Given the description of an element on the screen output the (x, y) to click on. 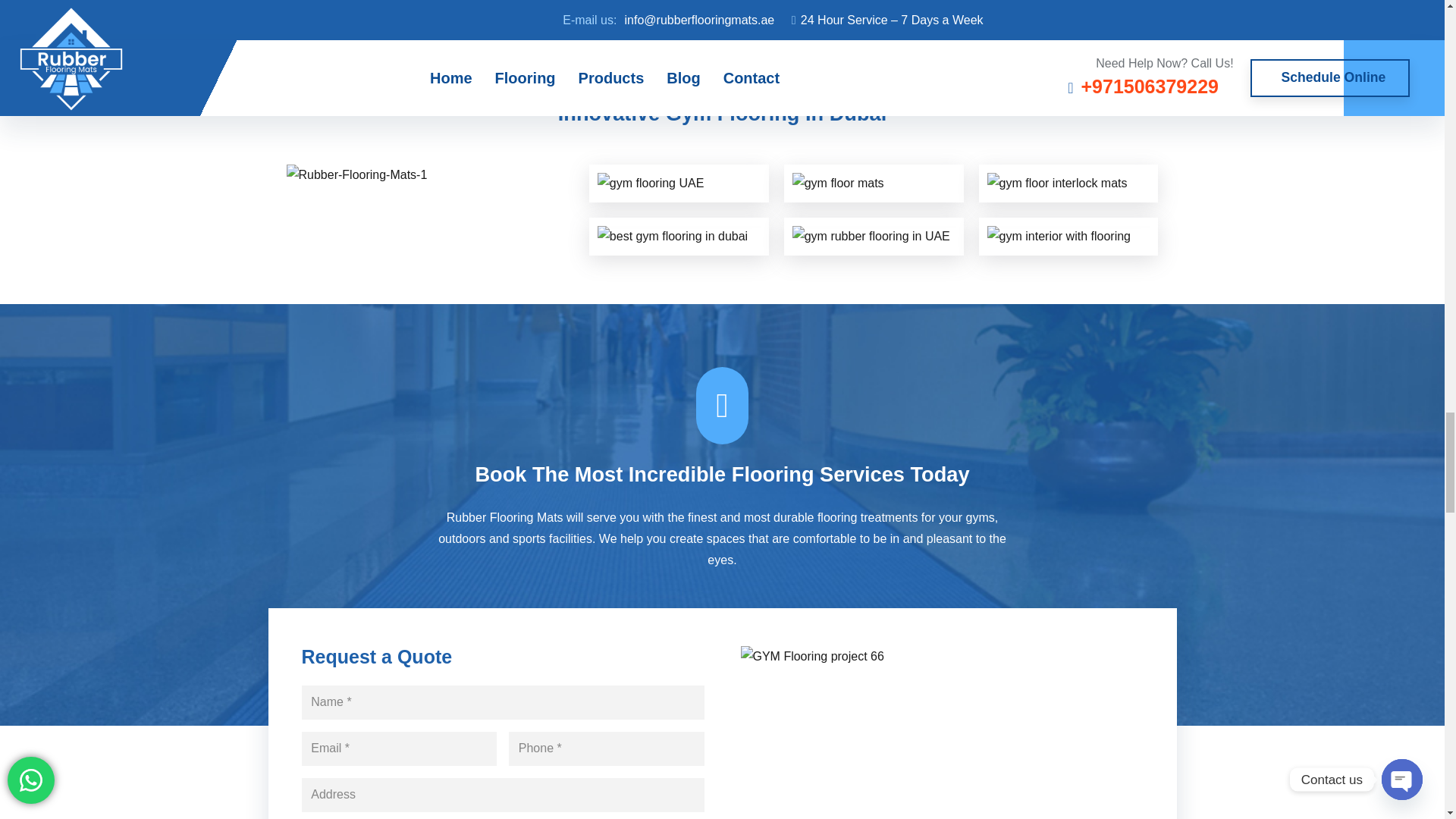
gym floor interlock mats (1068, 183)
gym interior with flooring (1068, 236)
best gym flooring in dubai (678, 236)
gym floor mats (873, 183)
gym rubber flooring in UAE (873, 236)
gym flooring UAE (678, 183)
